Given the description of an element on the screen output the (x, y) to click on. 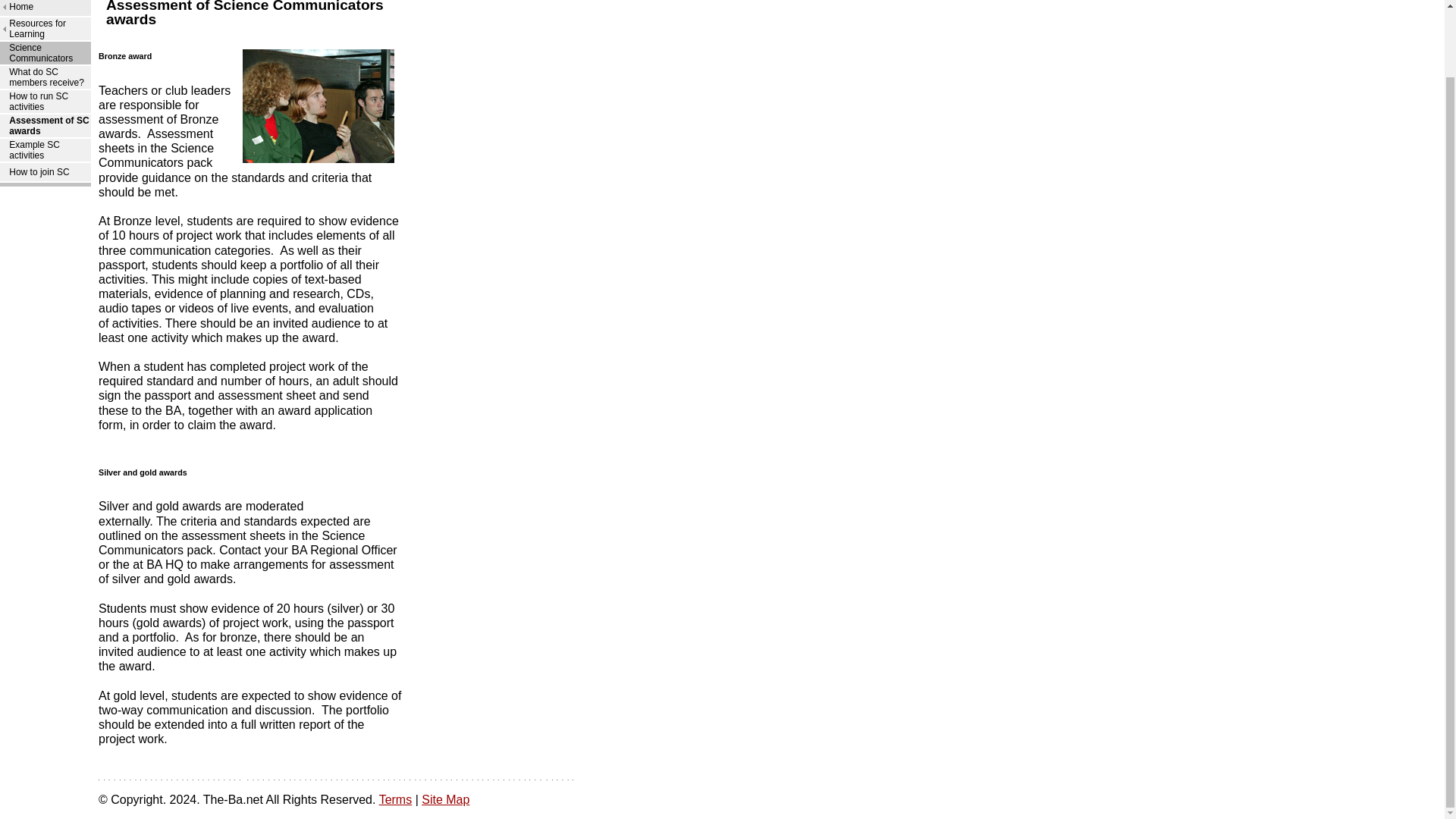
What do SC members receive? (46, 76)
How to run SC activities (38, 101)
Science Communicators (40, 52)
home (20, 6)
Resources for Learning (36, 28)
Resources for Learning (36, 28)
How to join SC (38, 172)
Home (20, 6)
Terms (395, 799)
Example SC activities (33, 149)
Science Communicators (40, 52)
How to run SC activities (38, 101)
What do SC members receive? (46, 76)
Site Map (445, 799)
How to join SC (38, 172)
